Given the description of an element on the screen output the (x, y) to click on. 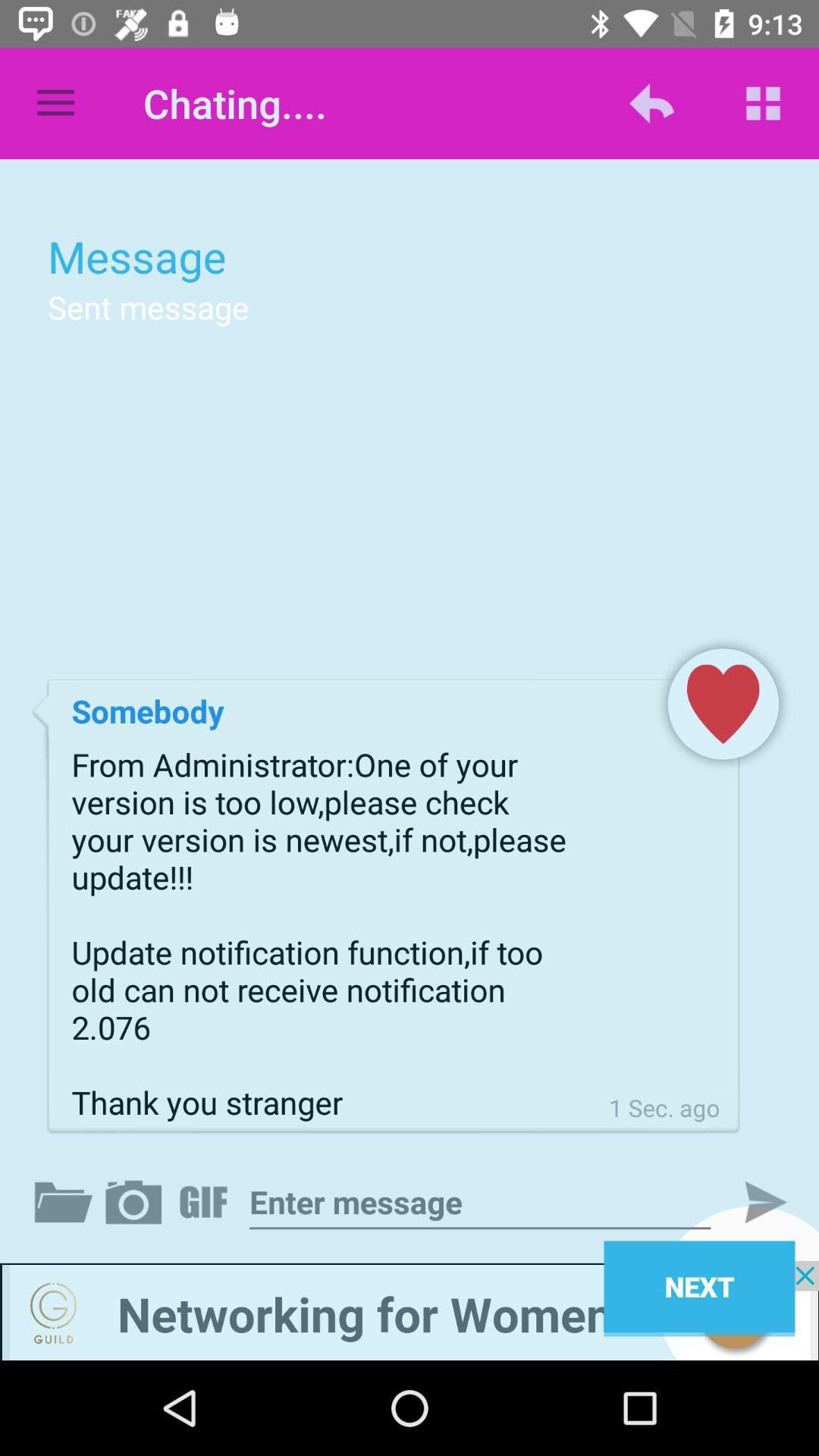
send message (752, 1202)
